Given the description of an element on the screen output the (x, y) to click on. 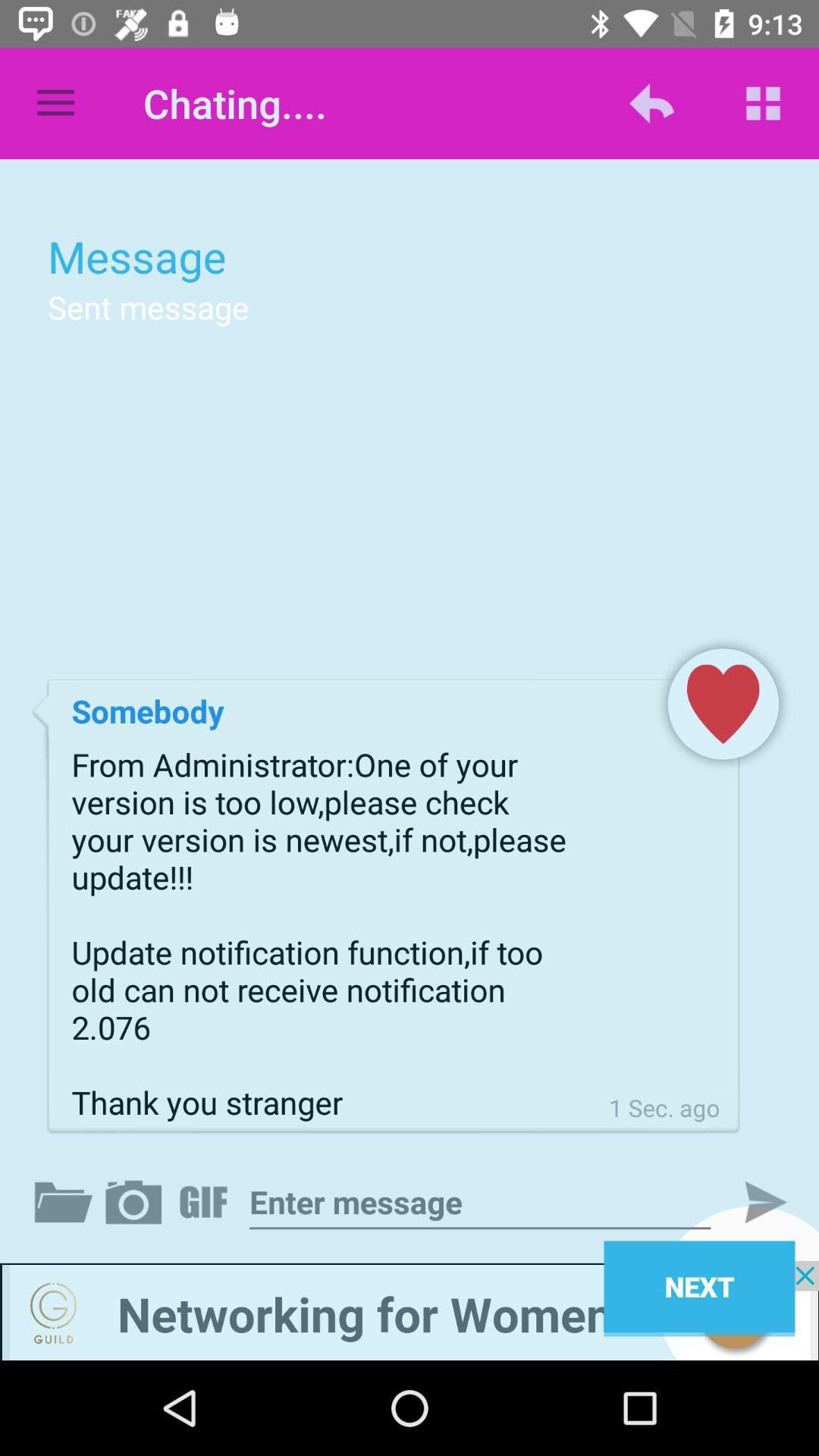
send message (752, 1202)
